Given the description of an element on the screen output the (x, y) to click on. 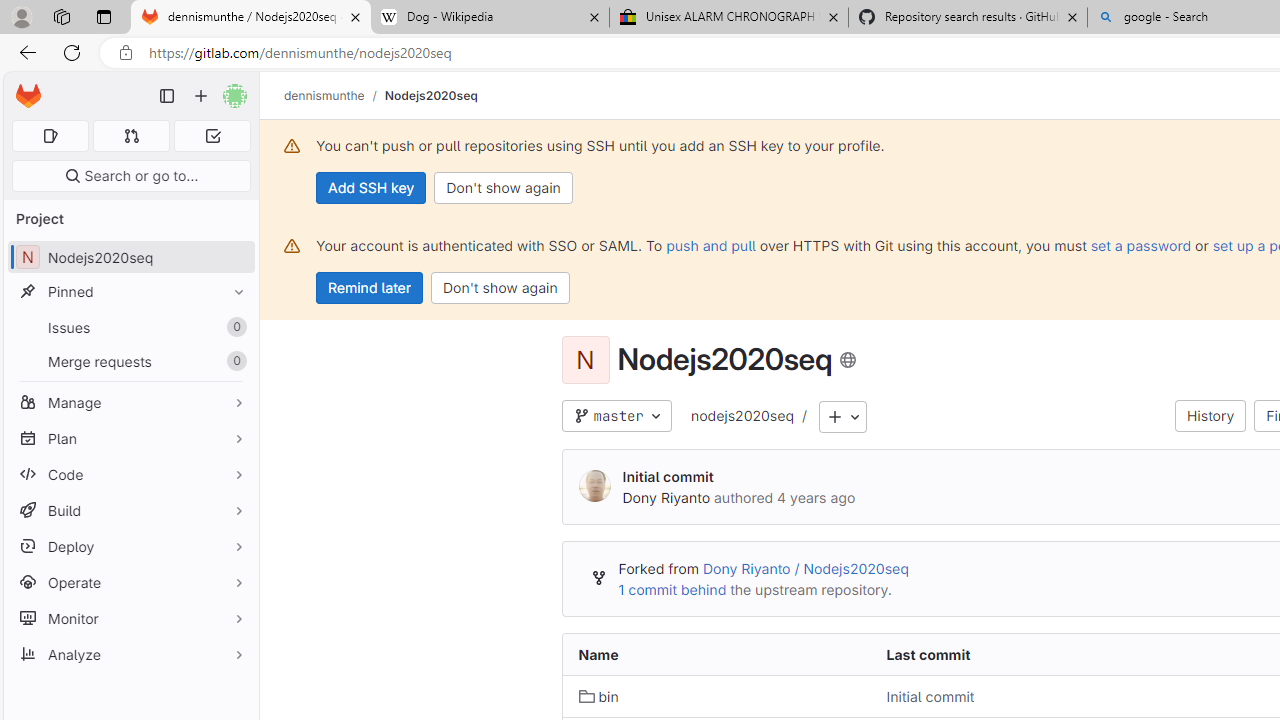
Dony Riyanto's avatar (594, 486)
Primary navigation sidebar (167, 96)
N Nodejs2020seq (130, 257)
Merge requests 0 (130, 361)
Pinned (130, 291)
Create new... (201, 96)
History (1209, 416)
Unpin Merge requests (234, 361)
Analyze (130, 654)
Build (130, 510)
Monitor (130, 618)
To-Do list 0 (212, 136)
Monitor (130, 618)
